Given the description of an element on the screen output the (x, y) to click on. 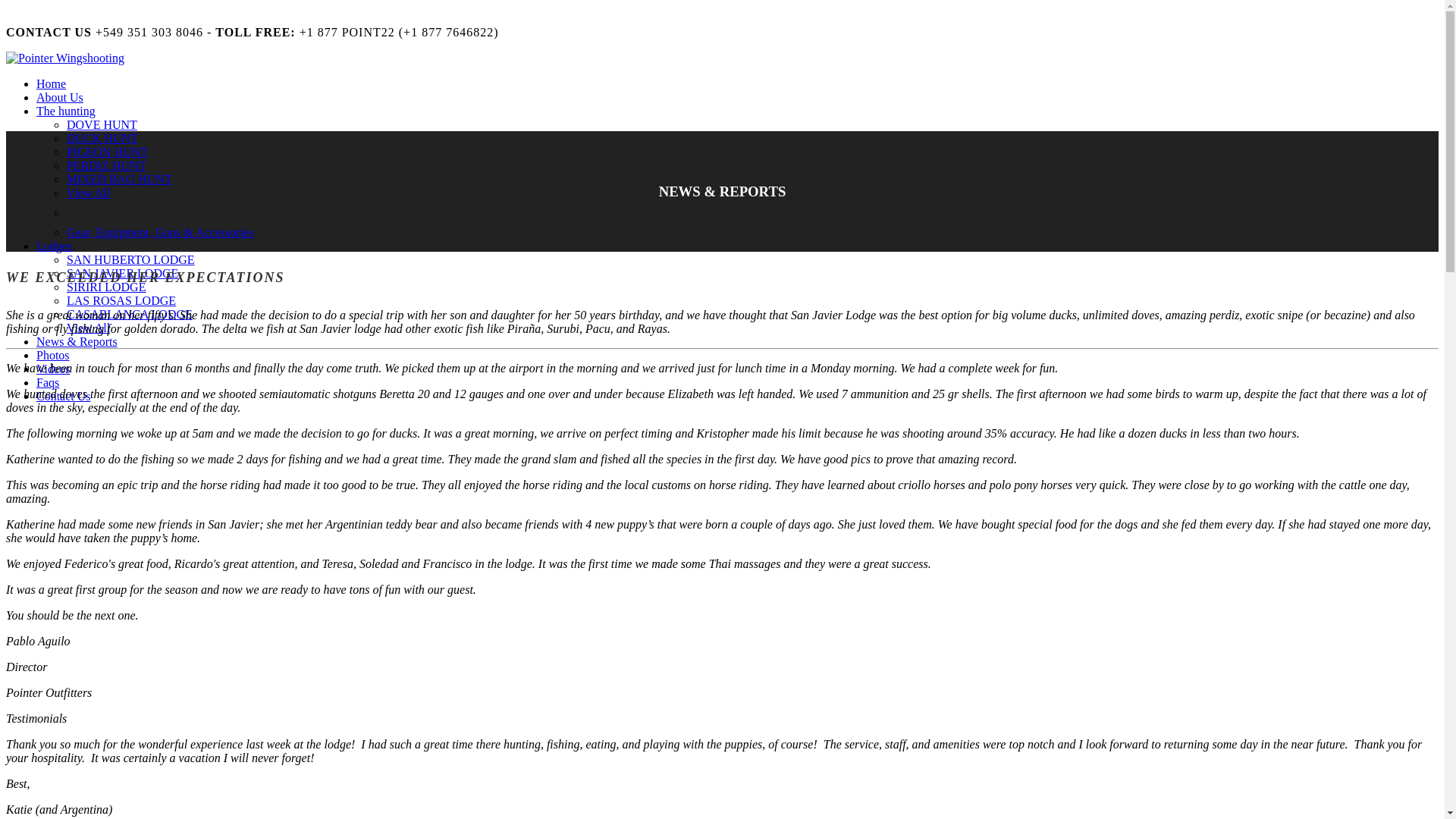
Lodges (53, 245)
Faqs (47, 382)
View All (88, 327)
View All Hunting - Pointer Wingshooting (88, 192)
Home - Pointer Wingshooting (50, 83)
Lodges - Pointer Wingshooting (53, 245)
LAS ROSAS LODGE (121, 300)
About Us - Pointer Wingshooting (59, 97)
MIXED BAG HUNT (118, 178)
About Us (59, 97)
